Given the description of an element on the screen output the (x, y) to click on. 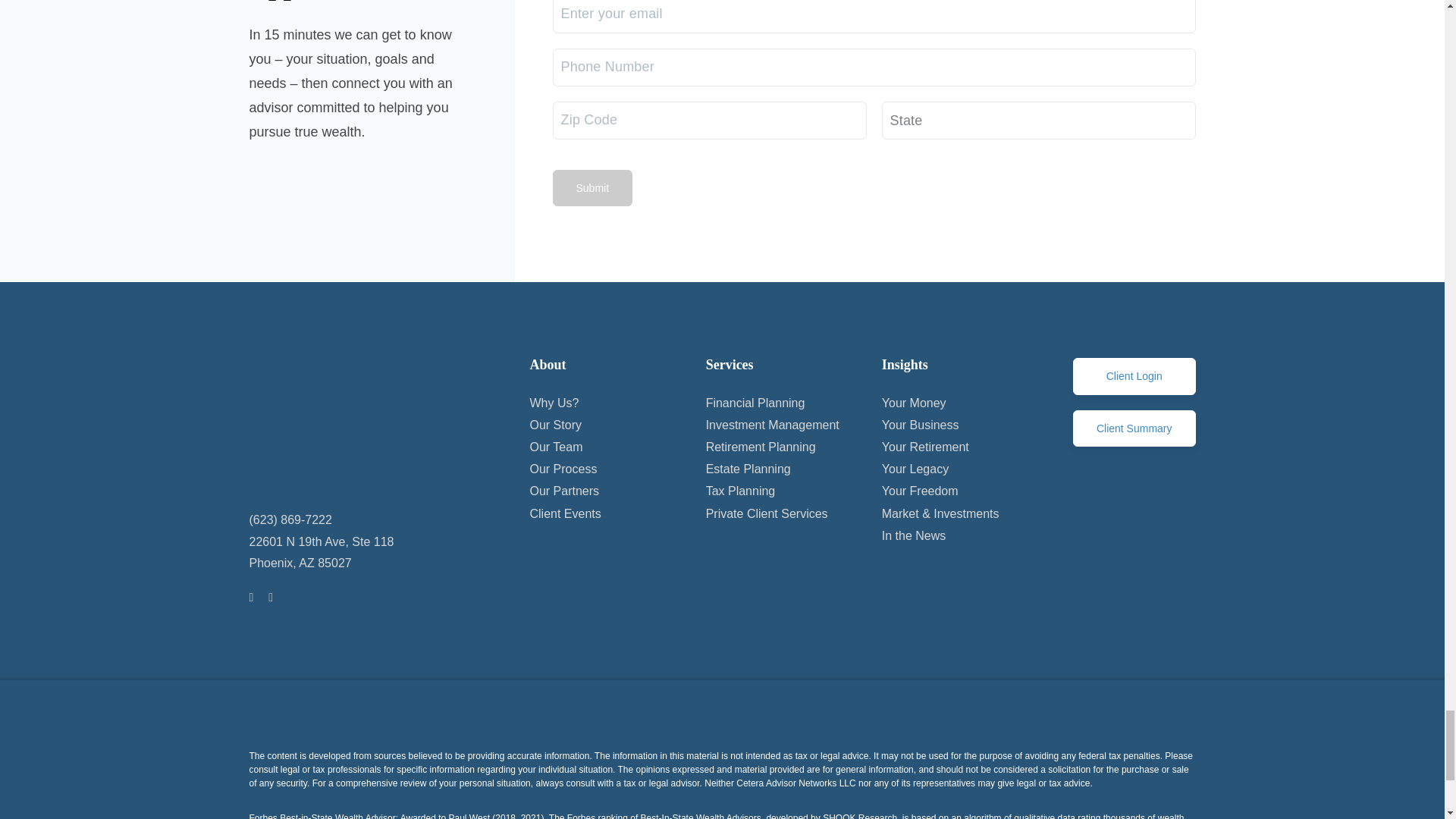
Submit (591, 187)
